Given the description of an element on the screen output the (x, y) to click on. 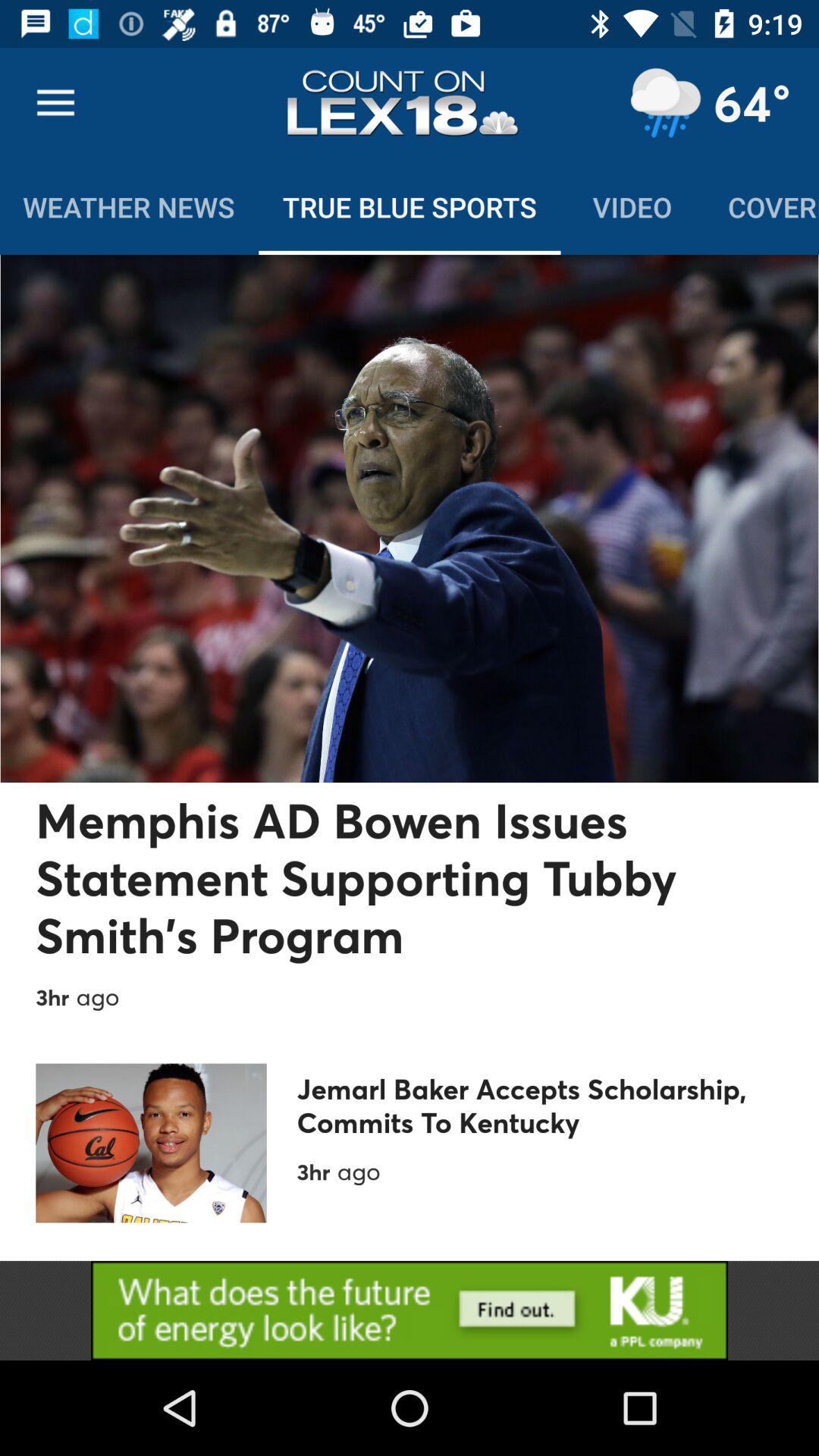
select the button shows weather information (665, 103)
